Given the description of an element on the screen output the (x, y) to click on. 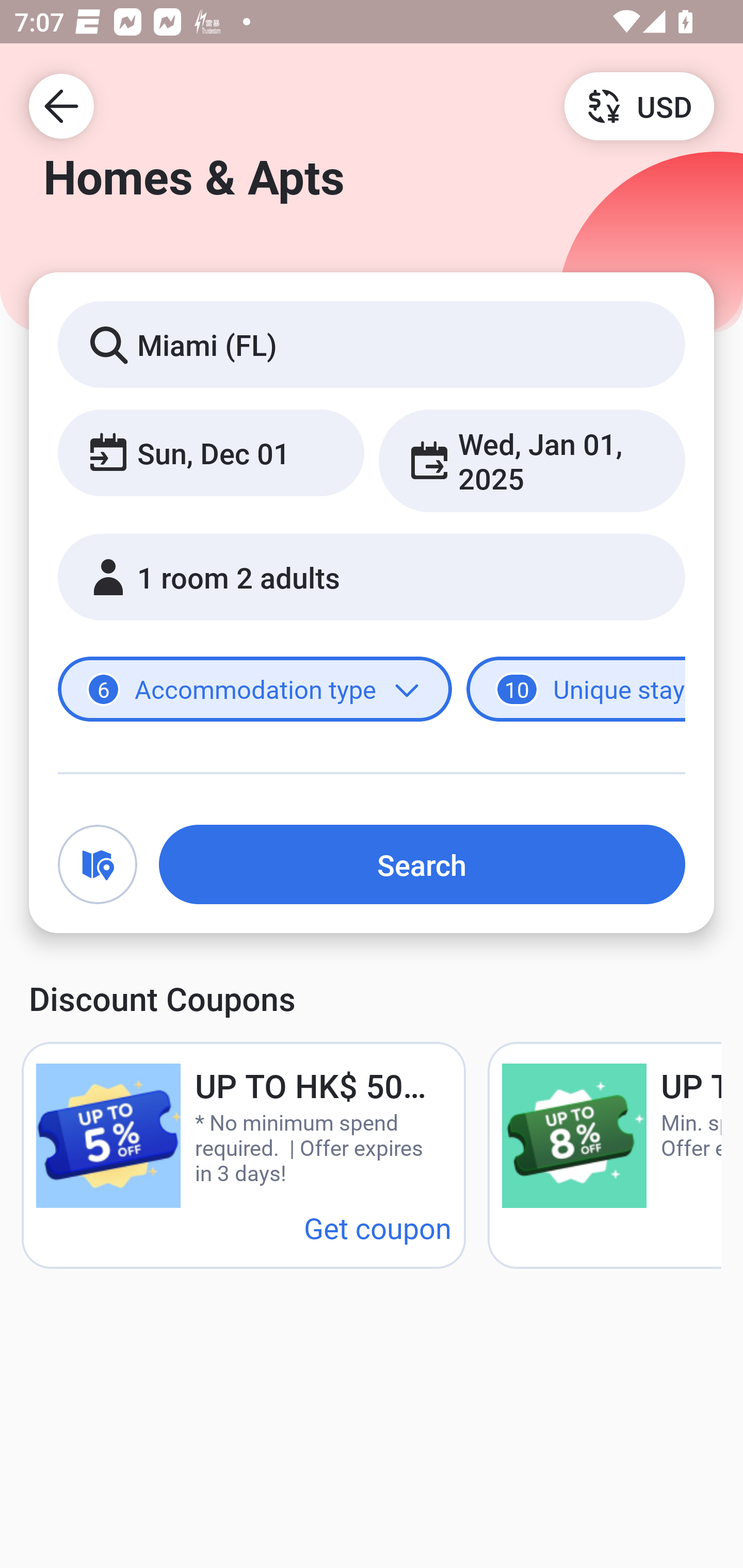
USD (639, 105)
Miami (FL) (371, 344)
Sun, Dec 01 (210, 452)
Wed, Jan 01, 2025 (531, 460)
1 room 2 adults (371, 576)
6 Accommodation type (254, 688)
10 Unique stays (575, 688)
Search (422, 864)
Get coupon (377, 1227)
